Given the description of an element on the screen output the (x, y) to click on. 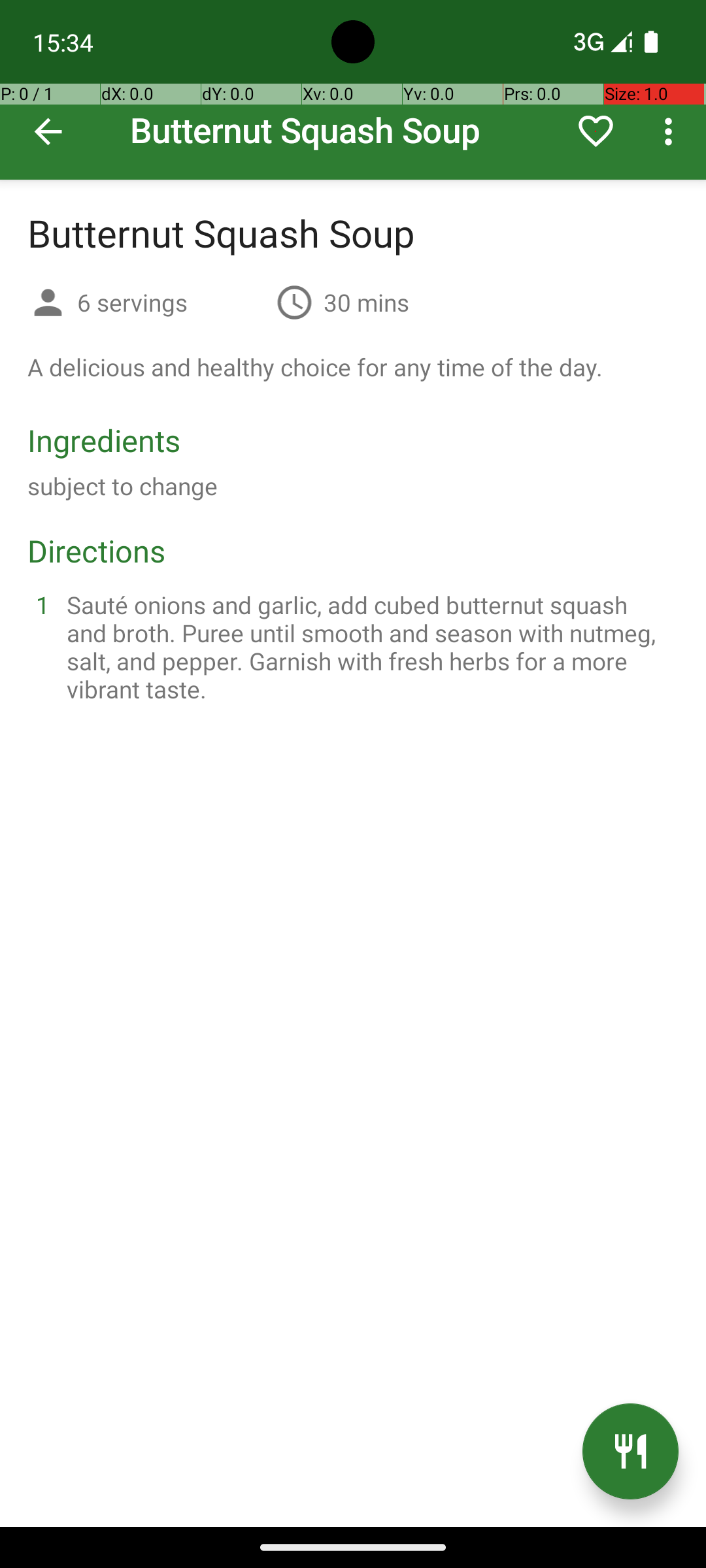
Butternut Squash Soup Element type: android.widget.FrameLayout (353, 89)
Mark as favorite Element type: android.widget.Button (595, 131)
6 servings Element type: android.widget.TextView (170, 301)
30 mins Element type: android.widget.TextView (366, 301)
subject to change Element type: android.widget.TextView (122, 485)
Sauté onions and garlic, add cubed butternut squash and broth. Puree until smooth and season with nutmeg, salt, and pepper. Garnish with fresh herbs for a more vibrant taste. Element type: android.widget.TextView (368, 646)
